Given the description of an element on the screen output the (x, y) to click on. 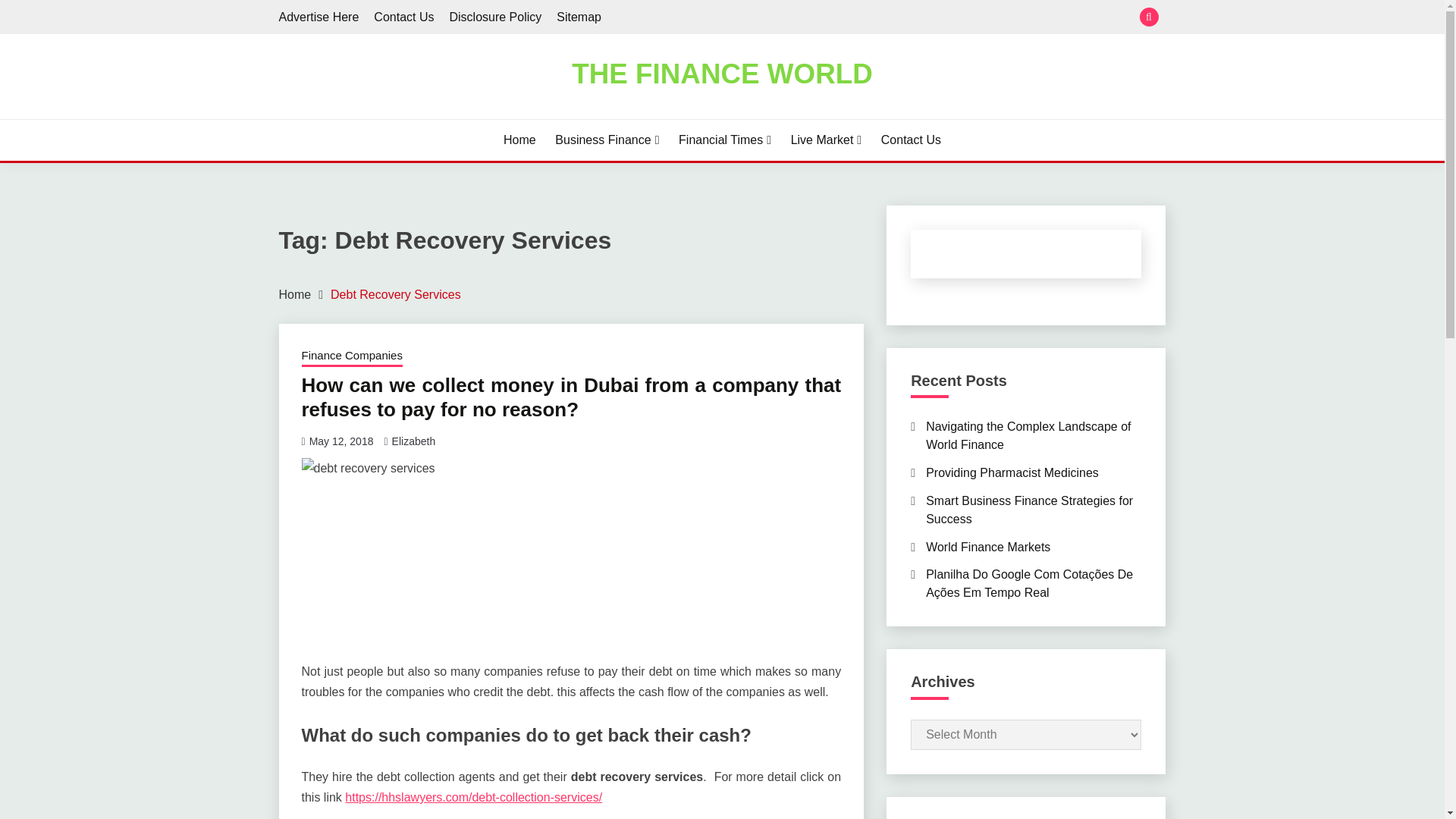
Advertise Here (319, 16)
Debt Recovery Services (395, 294)
Live Market (825, 140)
World Finance Markets (987, 546)
Home (295, 294)
Contact Us (910, 140)
Search (832, 18)
Disclosure Policy (494, 16)
Sitemap (578, 16)
Finance Companies (352, 356)
Financial Times (724, 140)
Providing Pharmacist Medicines (1012, 472)
Business Finance (606, 140)
Navigating the Complex Landscape of World Finance (1028, 435)
Contact Us (403, 16)
